Given the description of an element on the screen output the (x, y) to click on. 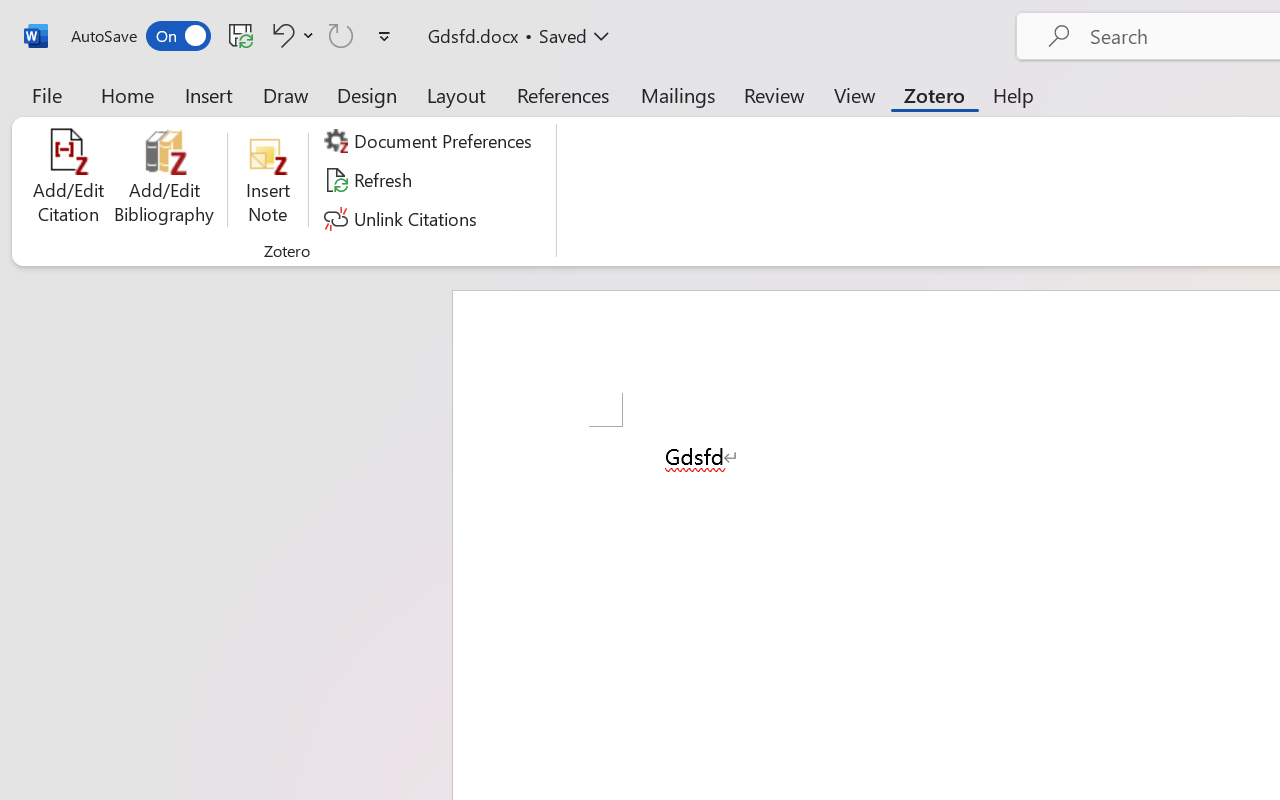
Document Preferences (431, 141)
Add/Edit Bibliography (164, 179)
Can't Repeat (341, 35)
Refresh (370, 179)
